Given the description of an element on the screen output the (x, y) to click on. 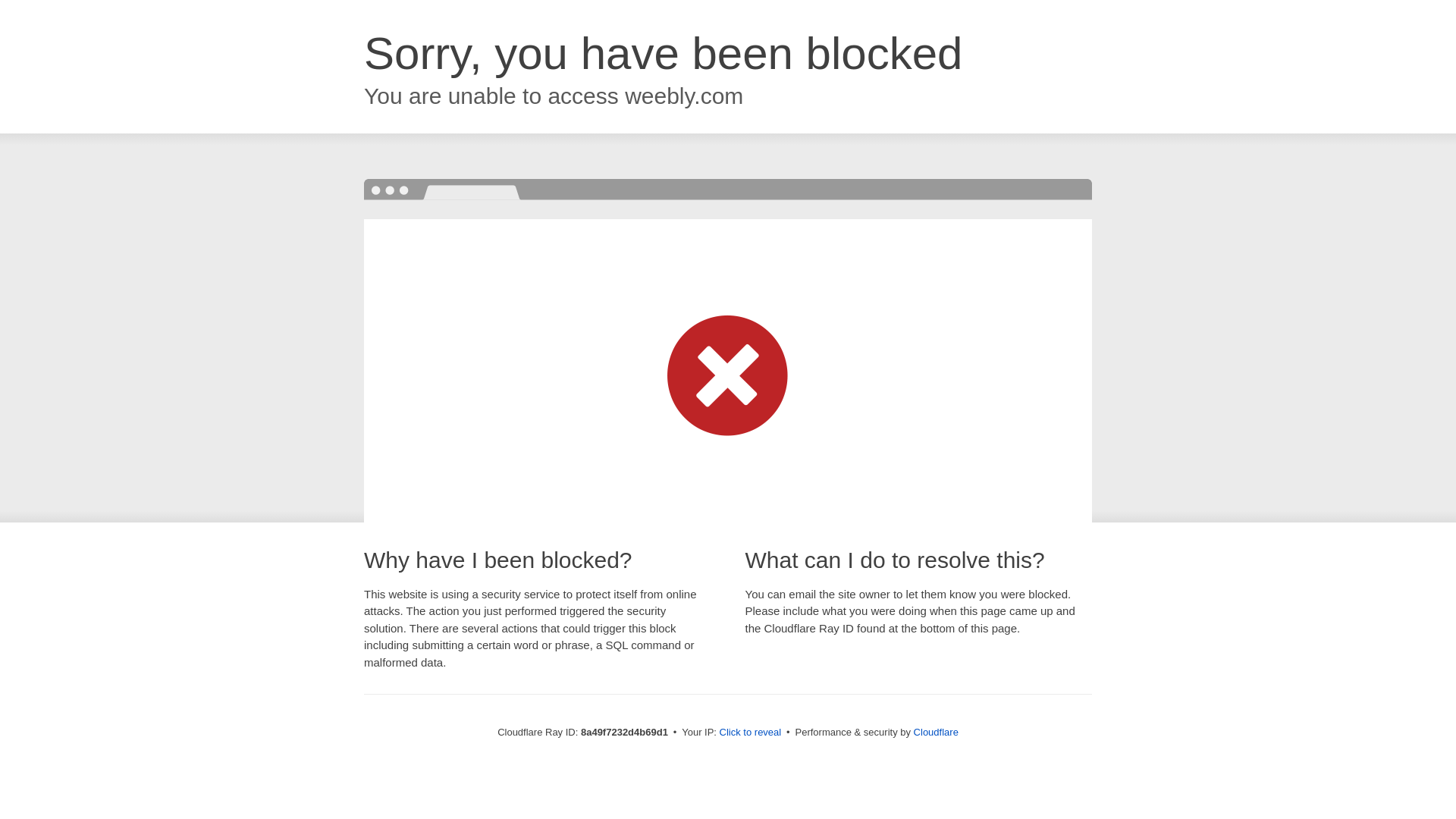
Click to reveal (750, 732)
Cloudflare (936, 731)
